Given the description of an element on the screen output the (x, y) to click on. 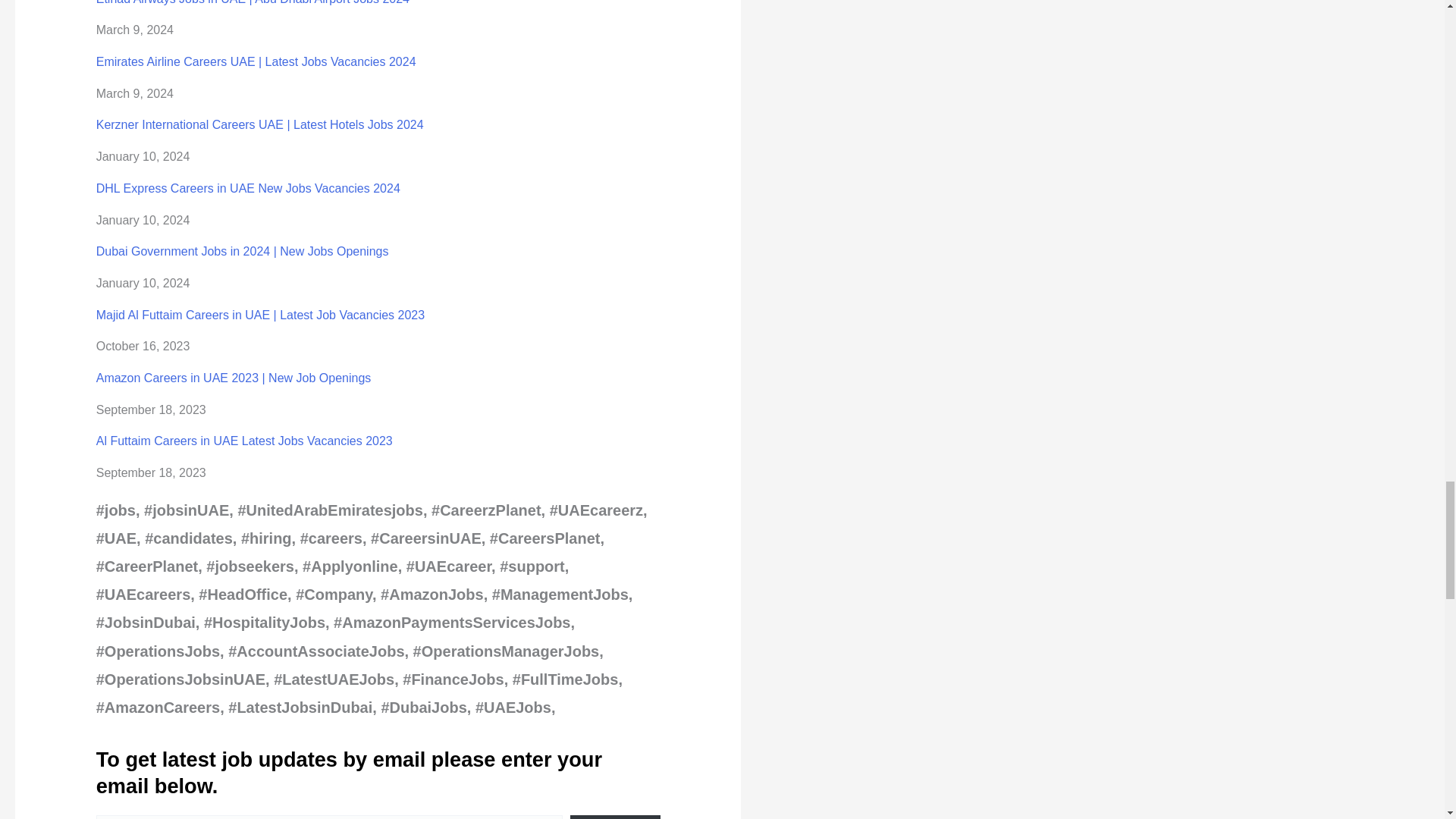
DHL Express Careers in UAE New Jobs Vacancies 2024 (248, 187)
Al Futtaim Careers in UAE Latest Jobs Vacancies 2023 (244, 440)
Subscribe (615, 816)
